Given the description of an element on the screen output the (x, y) to click on. 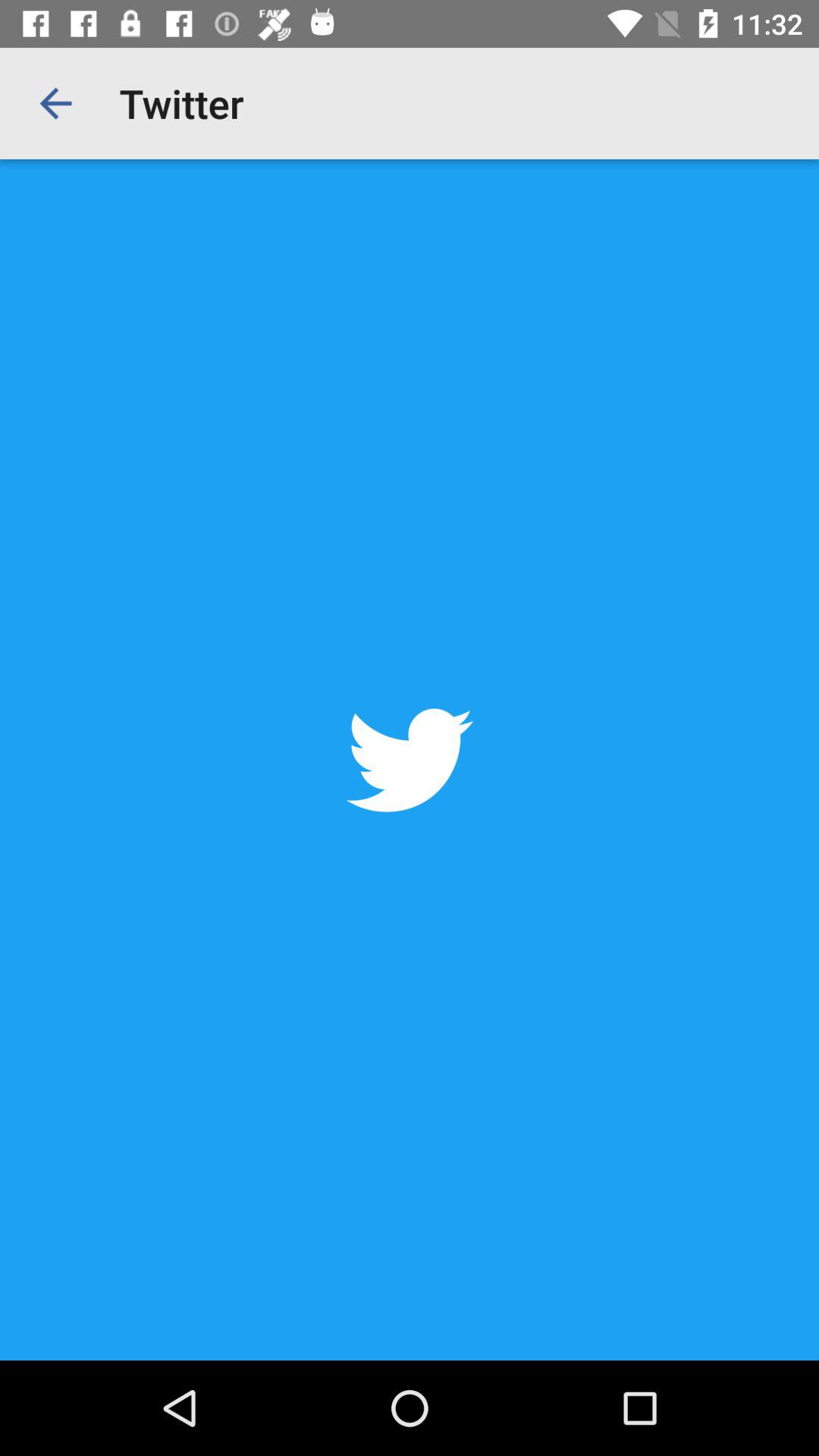
turn on the icon to the left of twitter icon (55, 103)
